Given the description of an element on the screen output the (x, y) to click on. 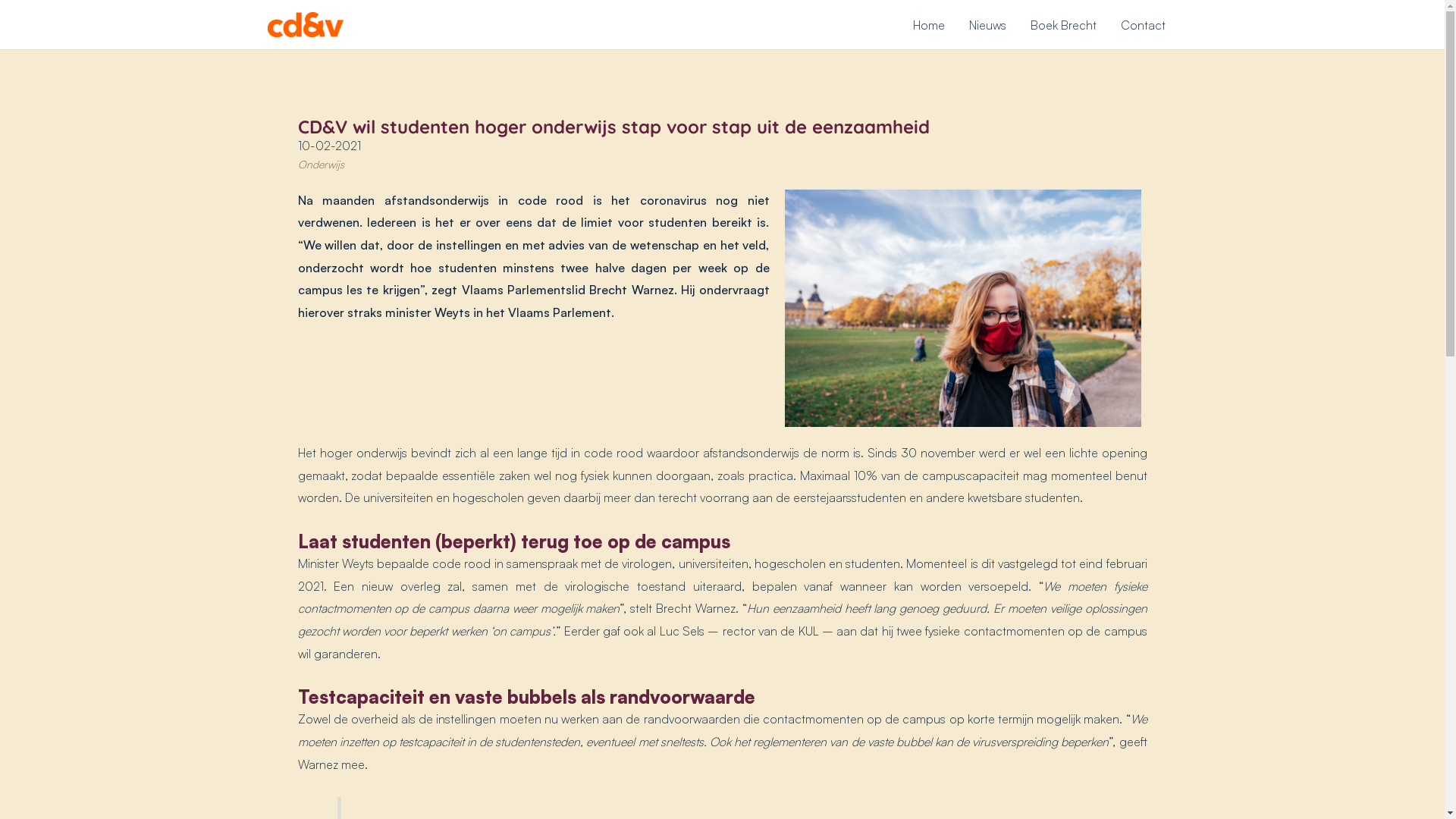
Nieuws Element type: text (987, 24)
Boek Brecht Element type: text (1062, 24)
Contact Element type: text (1142, 24)
Home Element type: text (928, 24)
